Given the description of an element on the screen output the (x, y) to click on. 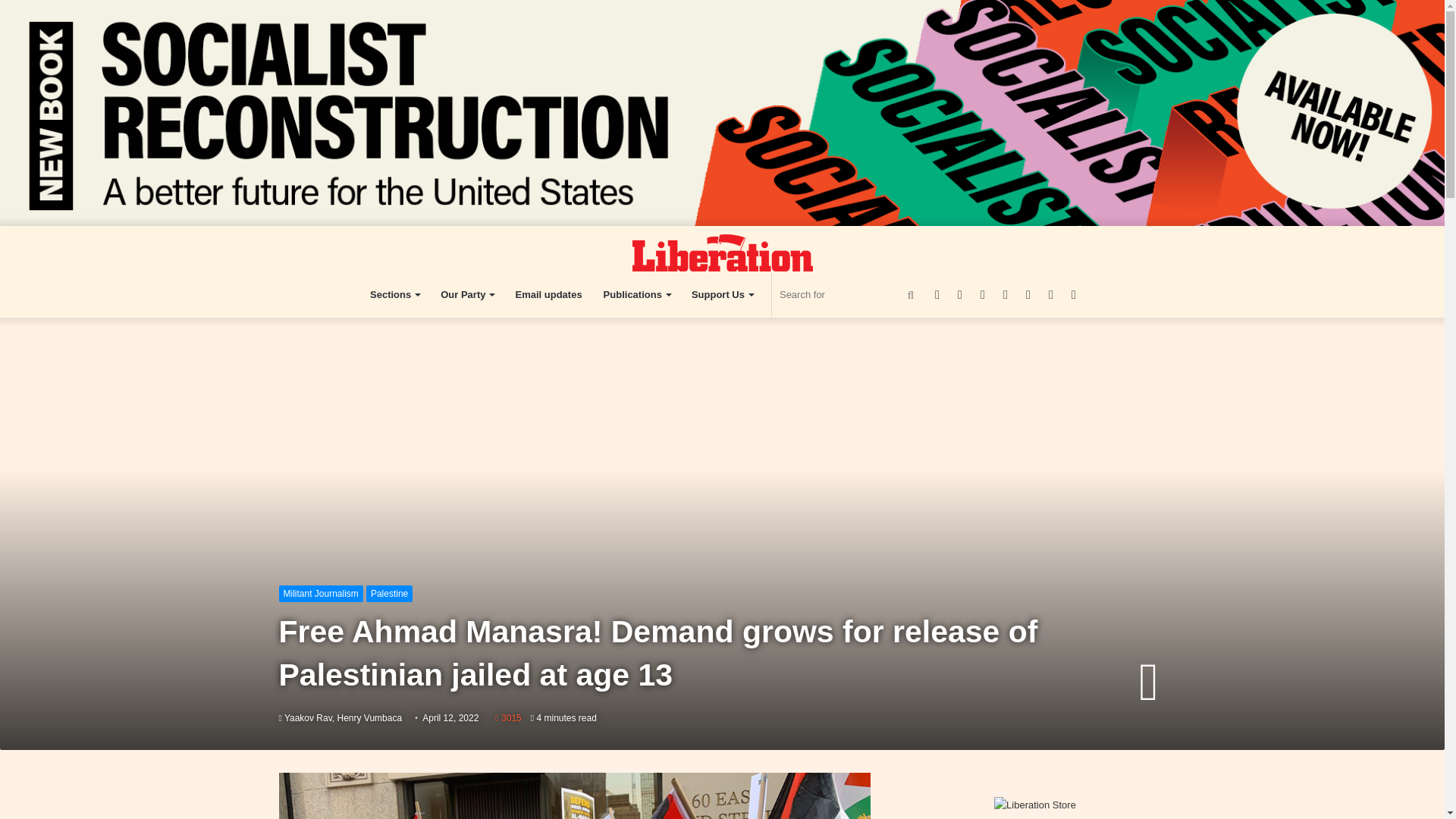
Search for (848, 294)
Liberation News (721, 252)
Palestine (389, 593)
Sections (394, 294)
Support Us (721, 294)
Our Party (466, 294)
Publications (636, 294)
Militant Journalism (320, 593)
Email updates (547, 294)
